Given the description of an element on the screen output the (x, y) to click on. 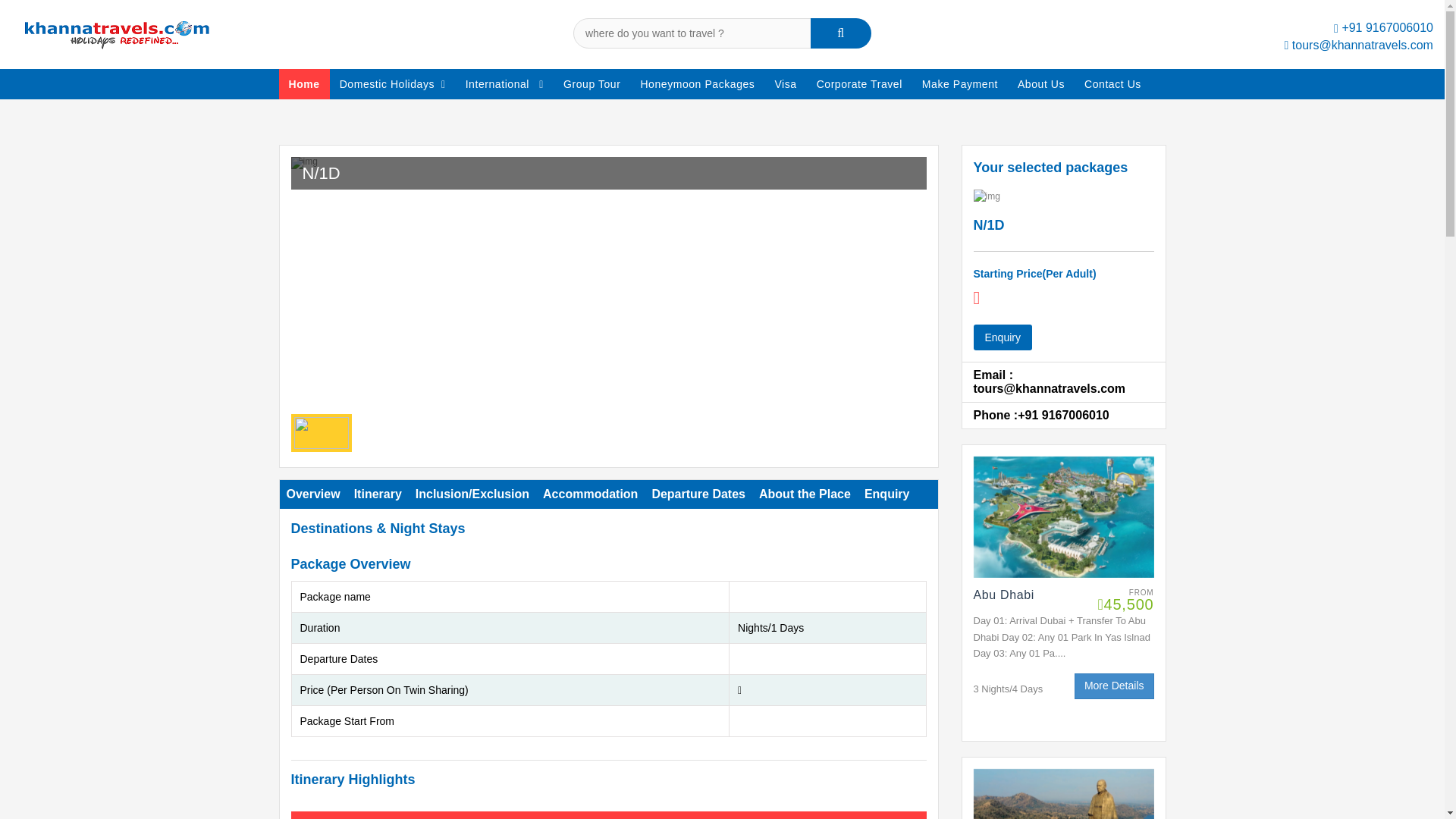
Accommodation (590, 493)
Enquiry (887, 493)
Visa (785, 83)
Honeymoon Packages (697, 83)
Group Tour (591, 83)
Overview (312, 493)
Khanna Travels (117, 33)
About the Place (804, 493)
Departure Dates (698, 493)
Domestic Holidays   (392, 83)
Home (304, 83)
Itinerary (378, 493)
International   (504, 83)
